Given the description of an element on the screen output the (x, y) to click on. 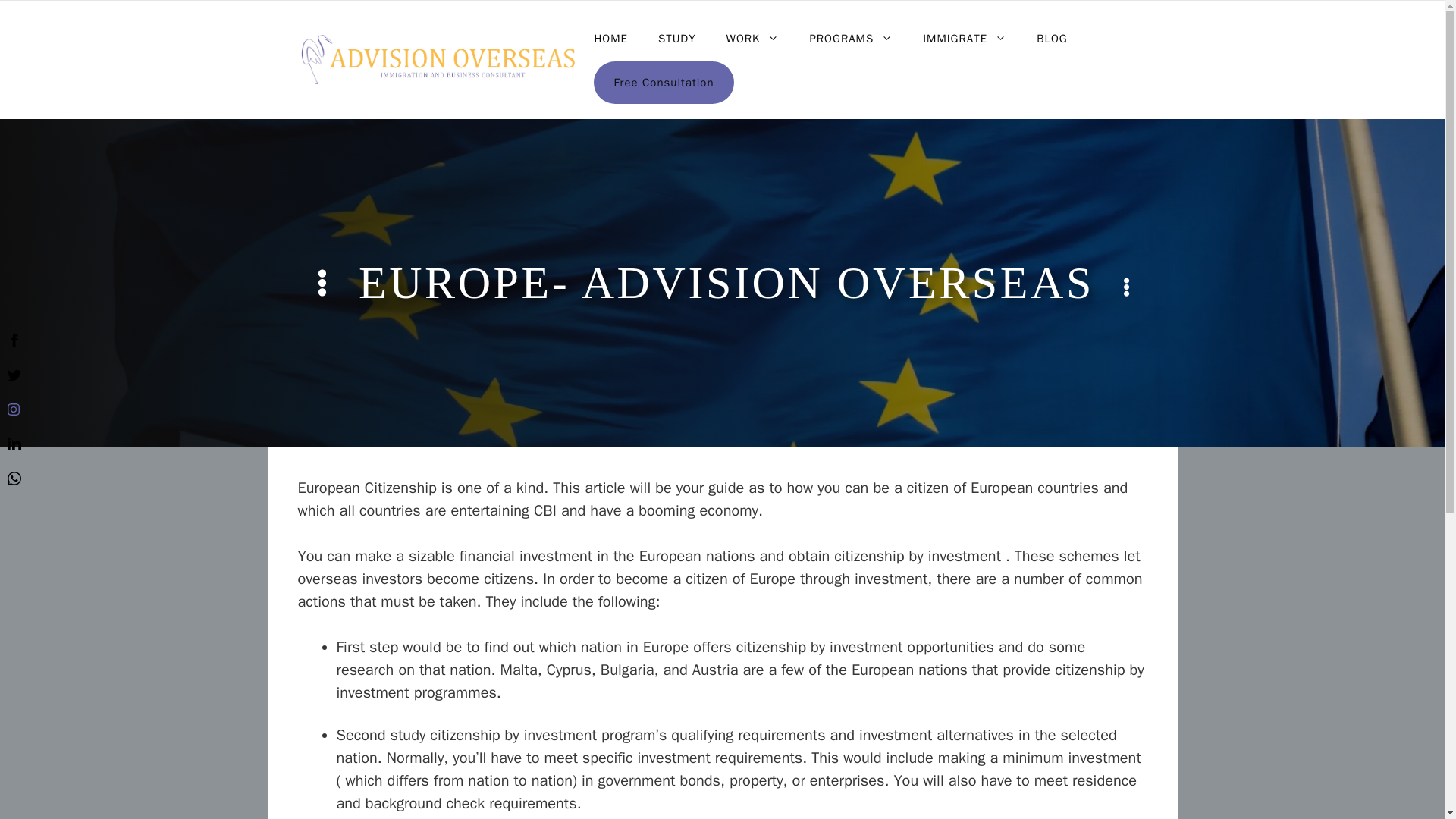
PROGRAMS (850, 38)
STUDY (677, 38)
IMMIGRATE (964, 38)
WORK (752, 38)
HOME (610, 38)
